Given the description of an element on the screen output the (x, y) to click on. 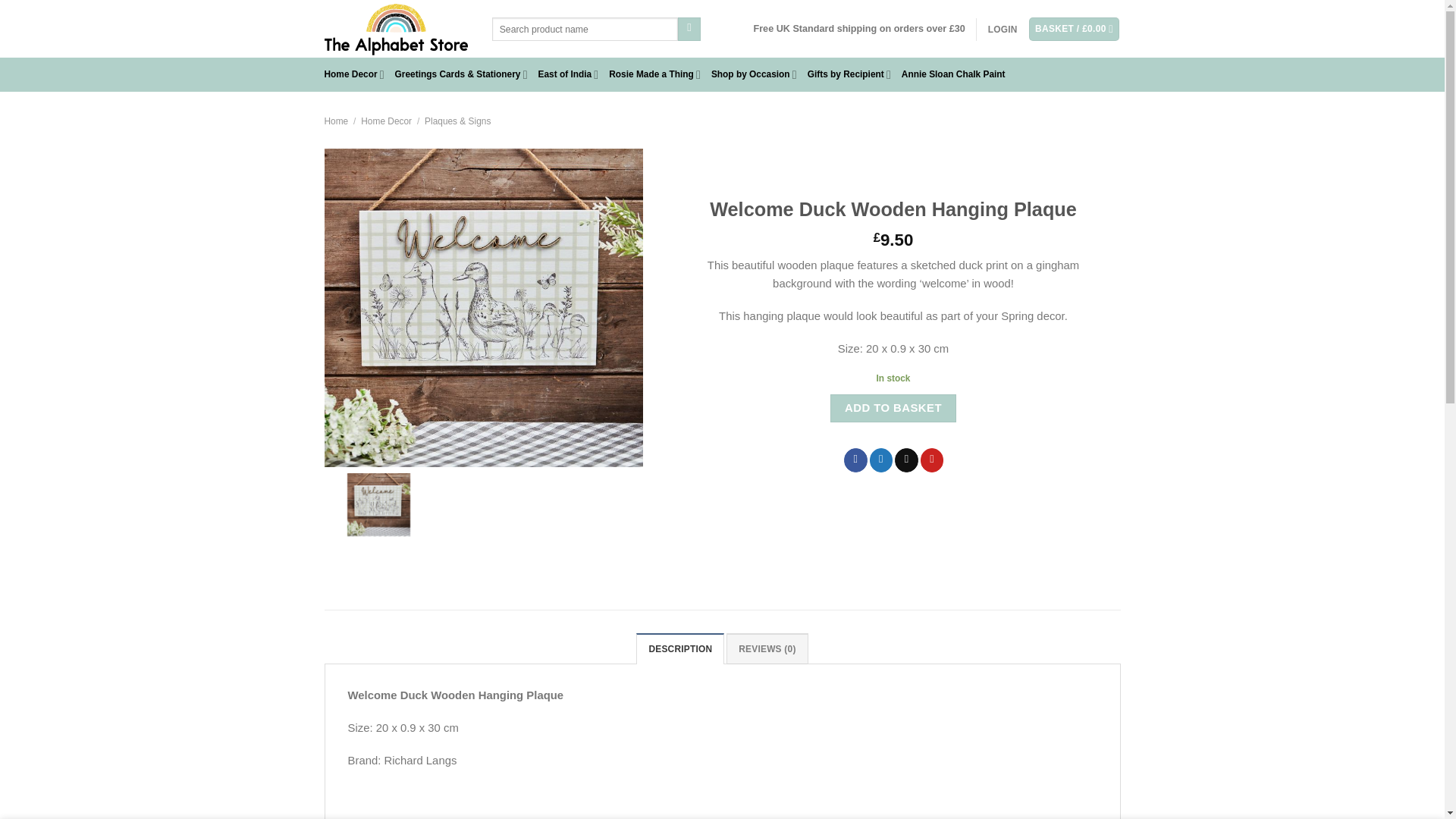
Home Decor (354, 74)
LOGIN (1002, 29)
Basket (1074, 28)
Search (689, 28)
Welcome Duck Wooden Hanging Plaque (483, 307)
Welcome Duck Wooden Hanging Plaque (378, 504)
